Given the description of an element on the screen output the (x, y) to click on. 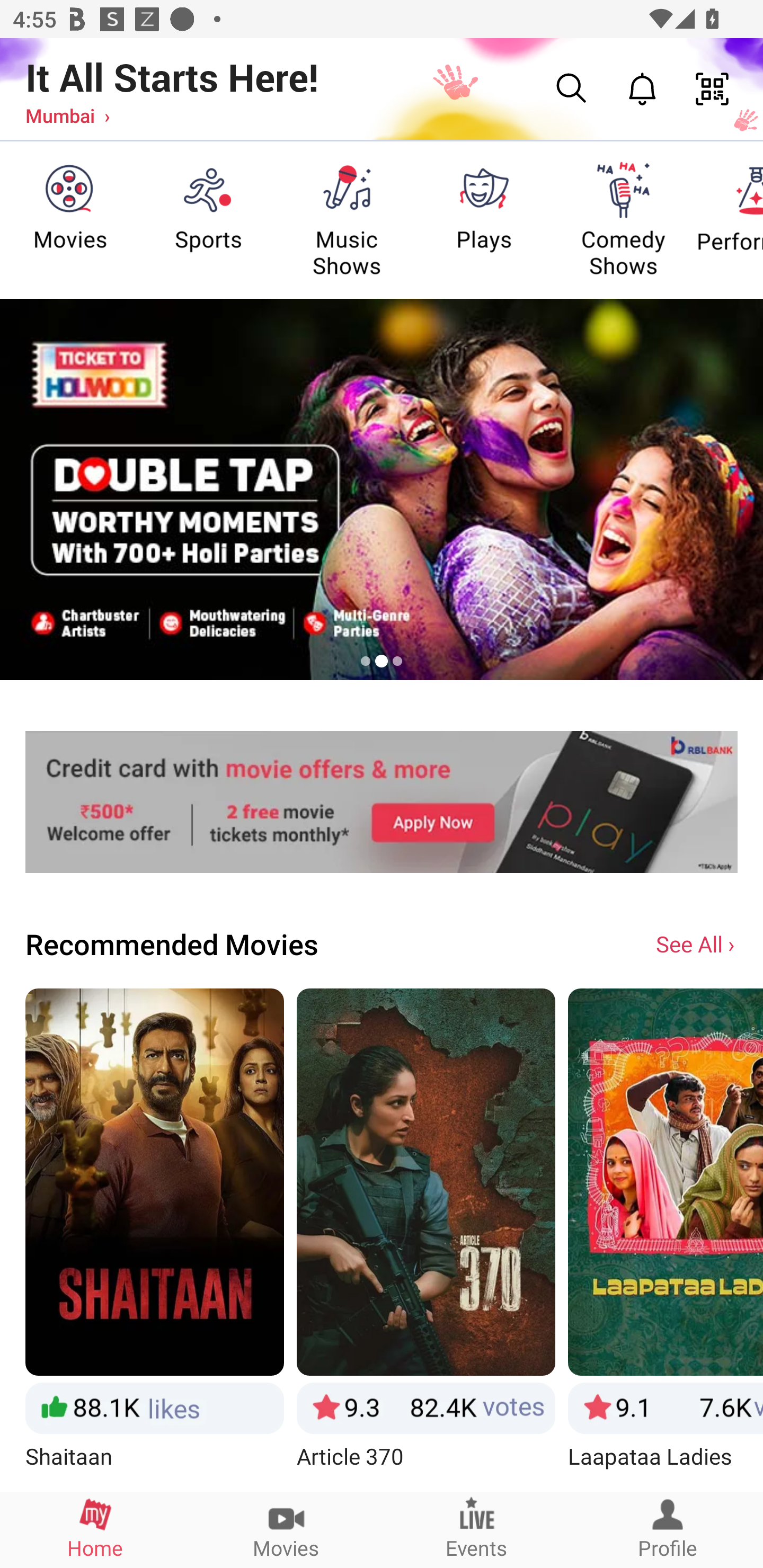
Mumbai  › (67, 114)
See All › (696, 943)
Shaitaan (154, 1239)
Article 370 (425, 1239)
Laapataa Ladies (665, 1239)
Home (95, 1529)
Movies (285, 1529)
Events (476, 1529)
Profile (667, 1529)
